Given the description of an element on the screen output the (x, y) to click on. 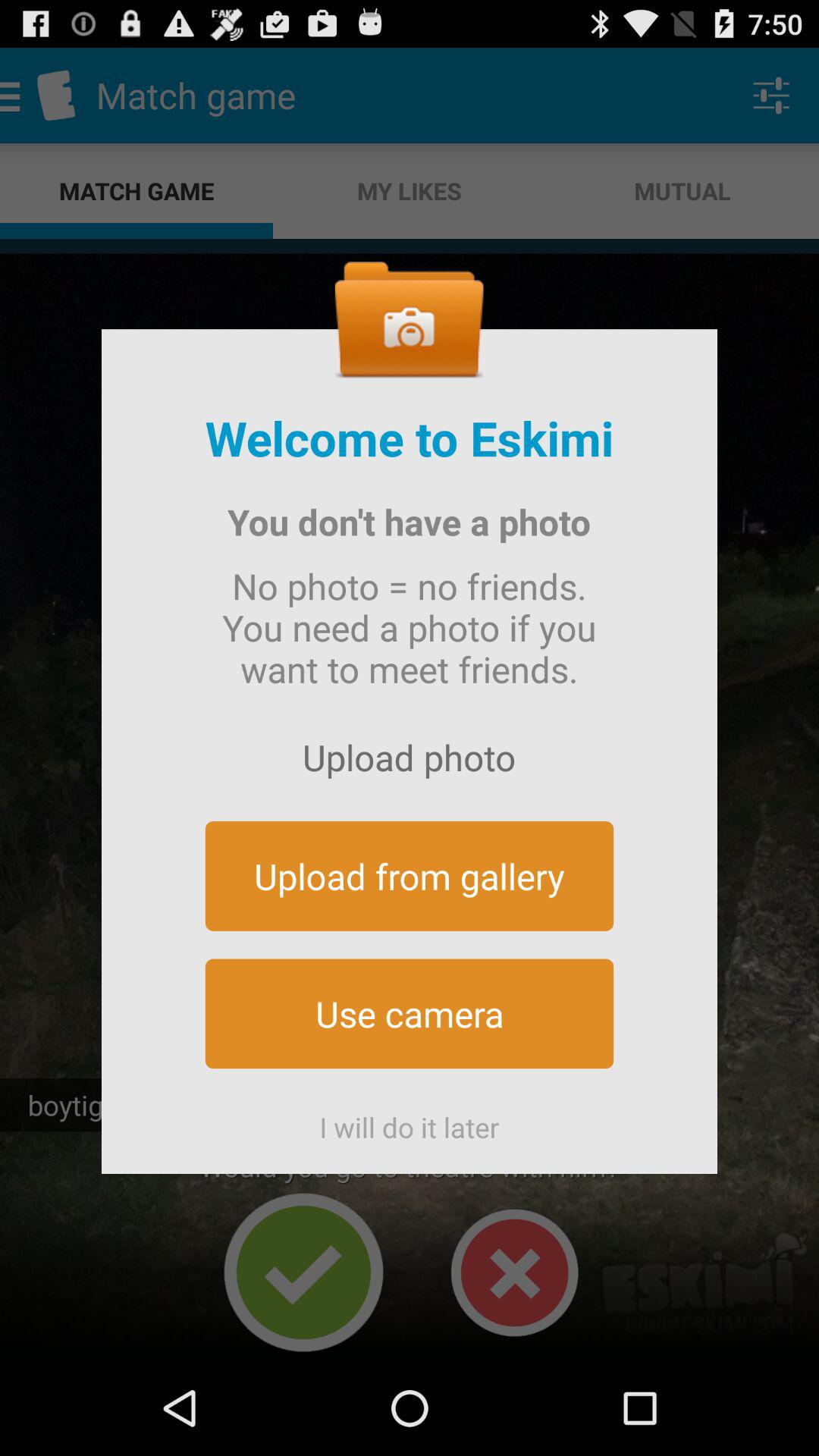
flip until the use camera icon (409, 1013)
